Given the description of an element on the screen output the (x, y) to click on. 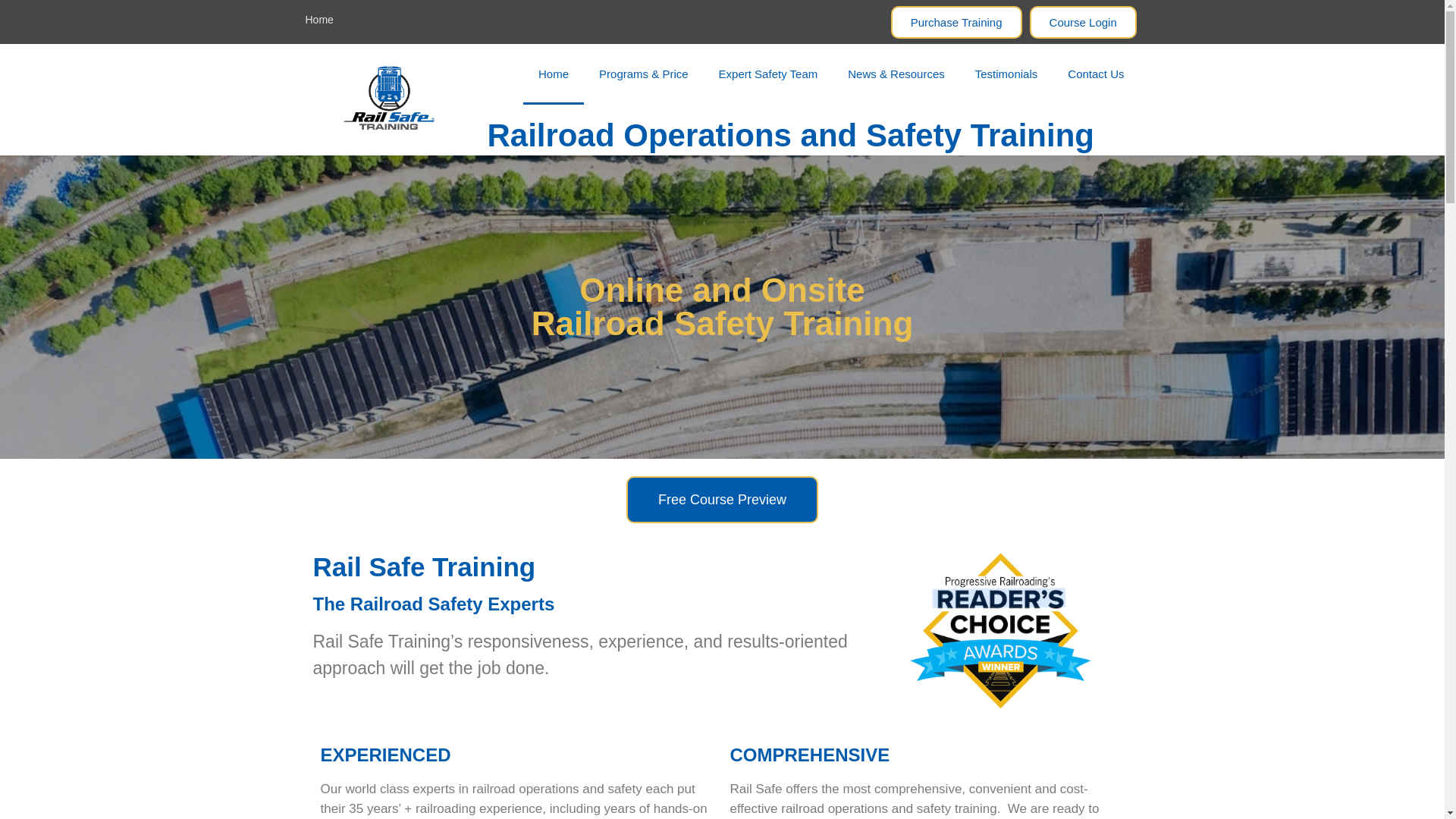
Home (552, 74)
Expert Safety Team (767, 74)
Home (318, 19)
Purchase Training (956, 21)
Testimonials (1005, 74)
Contact Us (1095, 74)
Course Login (1083, 21)
Free Course Preview (722, 499)
